Given the description of an element on the screen output the (x, y) to click on. 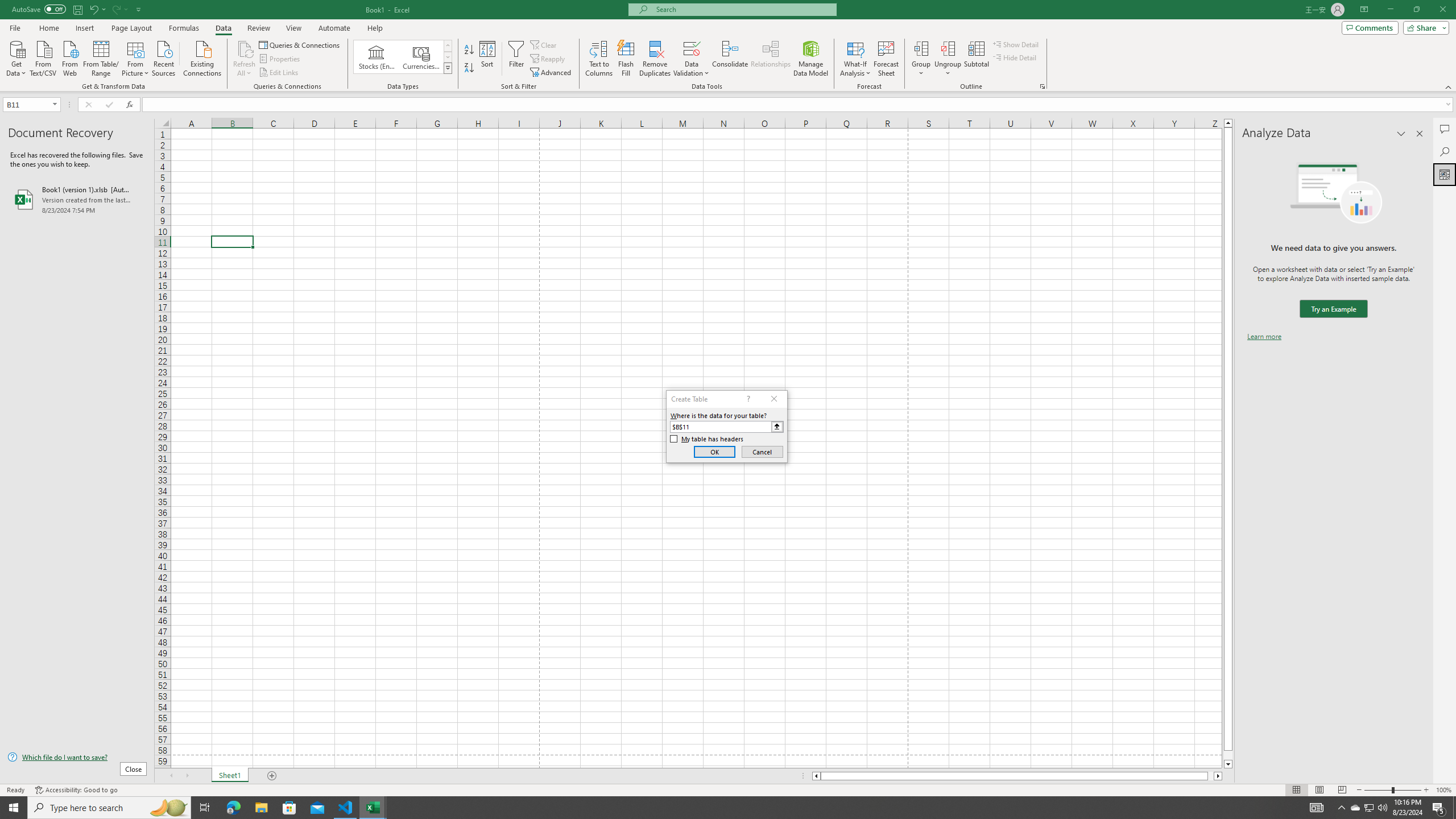
Flash Fill (625, 58)
Forecast Sheet (885, 58)
Class: NetUIImage (447, 68)
Filter (515, 58)
Sort A to Z (469, 49)
